Given the description of an element on the screen output the (x, y) to click on. 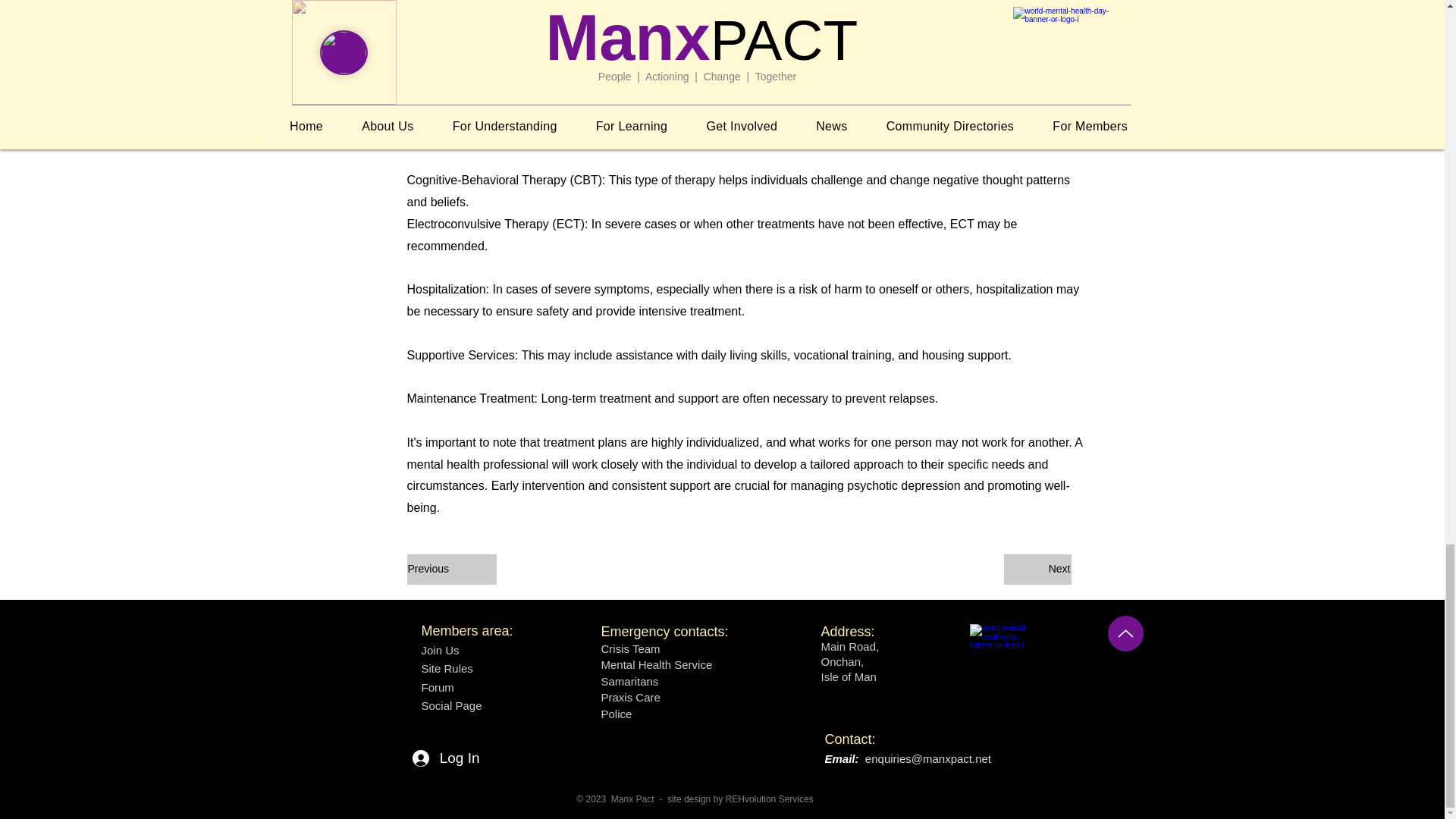
world-mental-health-day-banner-or-logo-i (1005, 653)
